Given the description of an element on the screen output the (x, y) to click on. 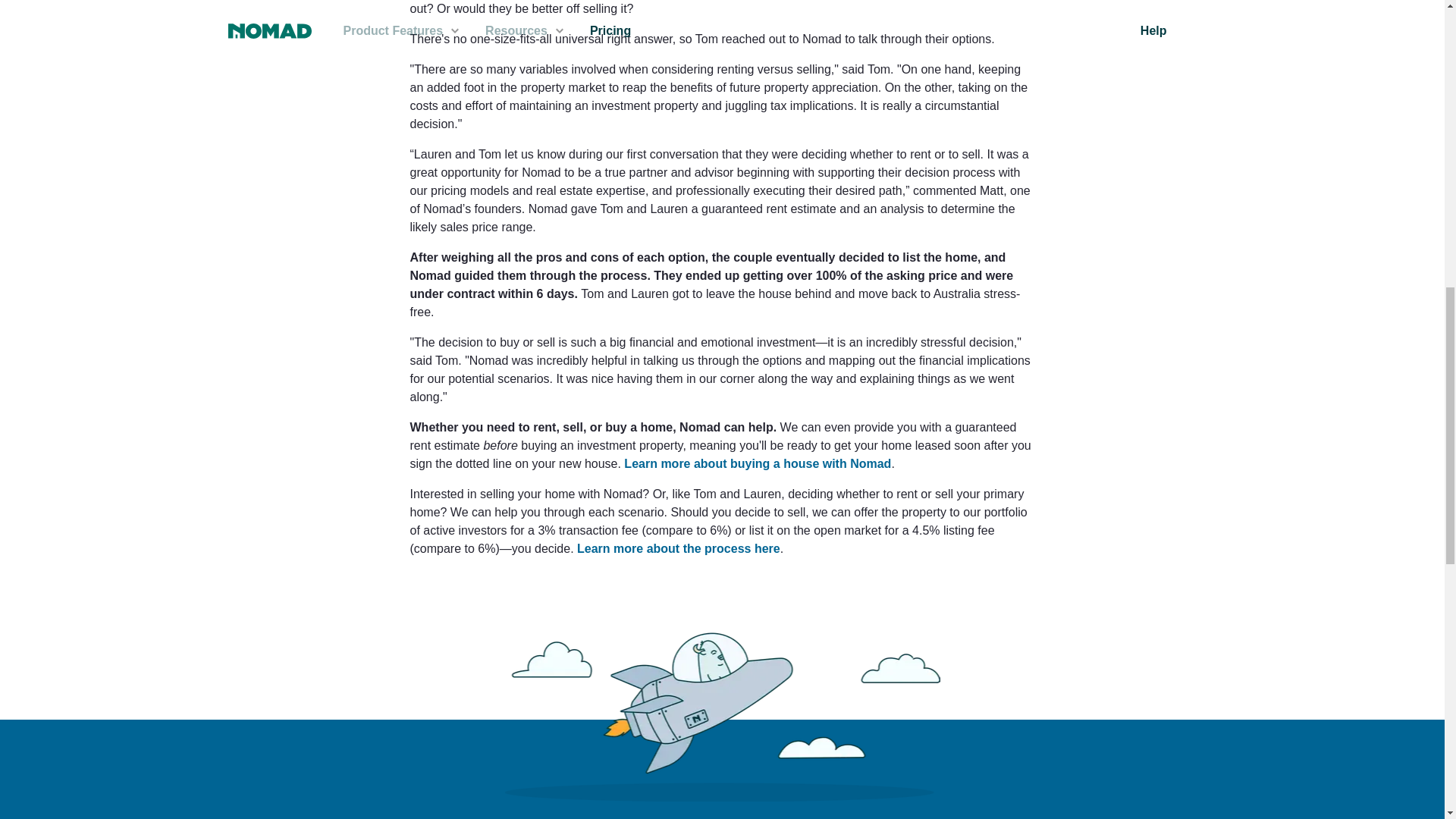
Learn more about buying a house with Nomad (757, 463)
Learn more about the process here (678, 548)
